Given the description of an element on the screen output the (x, y) to click on. 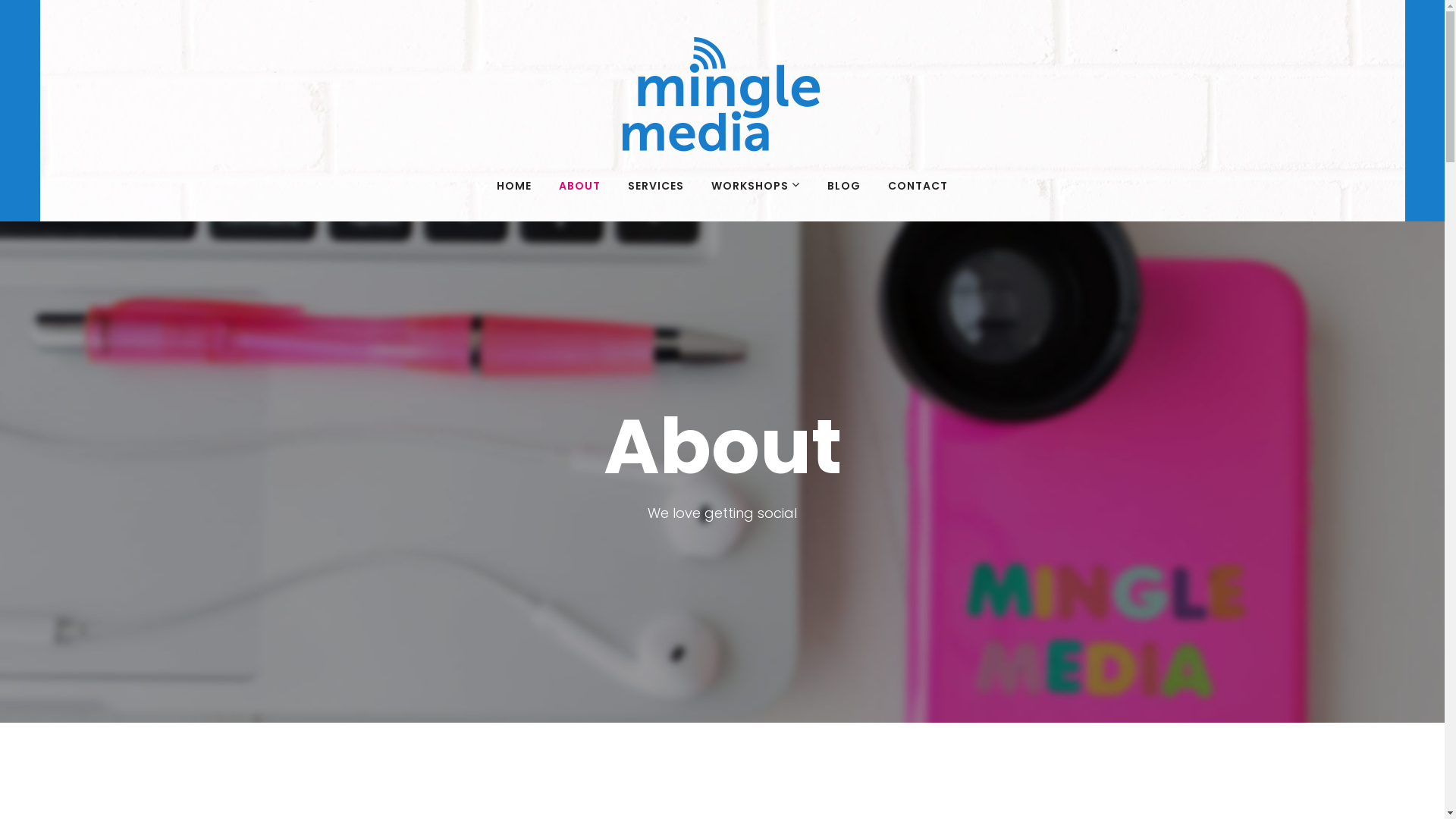
ABOUT Element type: text (579, 185)
CONTACT Element type: text (917, 185)
Skip to content Element type: text (0, 0)
HOME Element type: text (513, 185)
SERVICES Element type: text (655, 185)
WORKSHOPS Element type: text (755, 185)
BLOG Element type: text (843, 185)
